Given the description of an element on the screen output the (x, y) to click on. 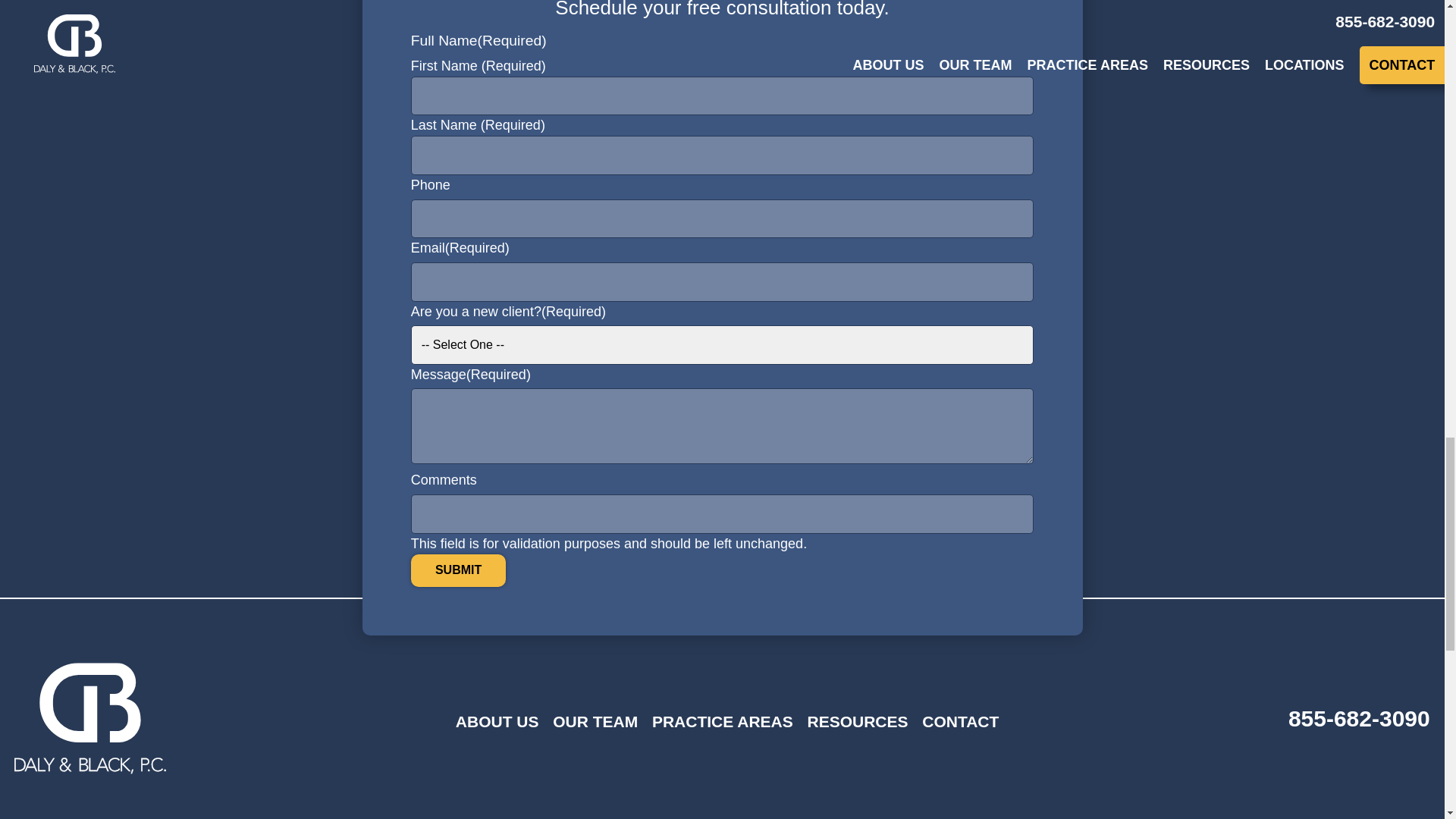
Submit (458, 570)
